Given the description of an element on the screen output the (x, y) to click on. 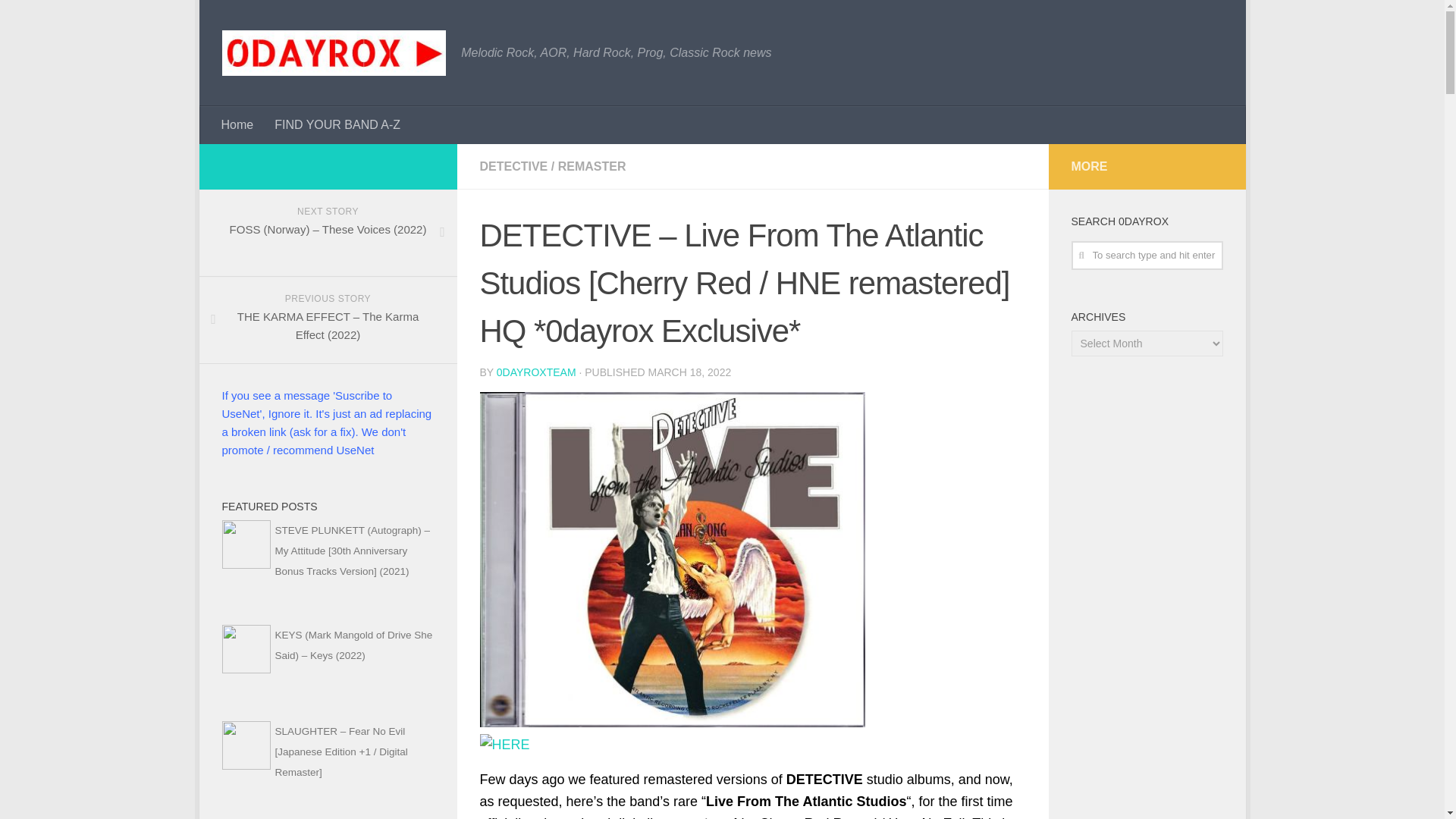
To search type and hit enter (1146, 255)
Home (237, 125)
FIND YOUR BAND A-Z (336, 125)
Posts by 0dayroxTeam (536, 372)
To search type and hit enter (1146, 255)
REMASTER (591, 165)
0DAYROXTEAM (536, 372)
DETECTIVE (513, 165)
